Given the description of an element on the screen output the (x, y) to click on. 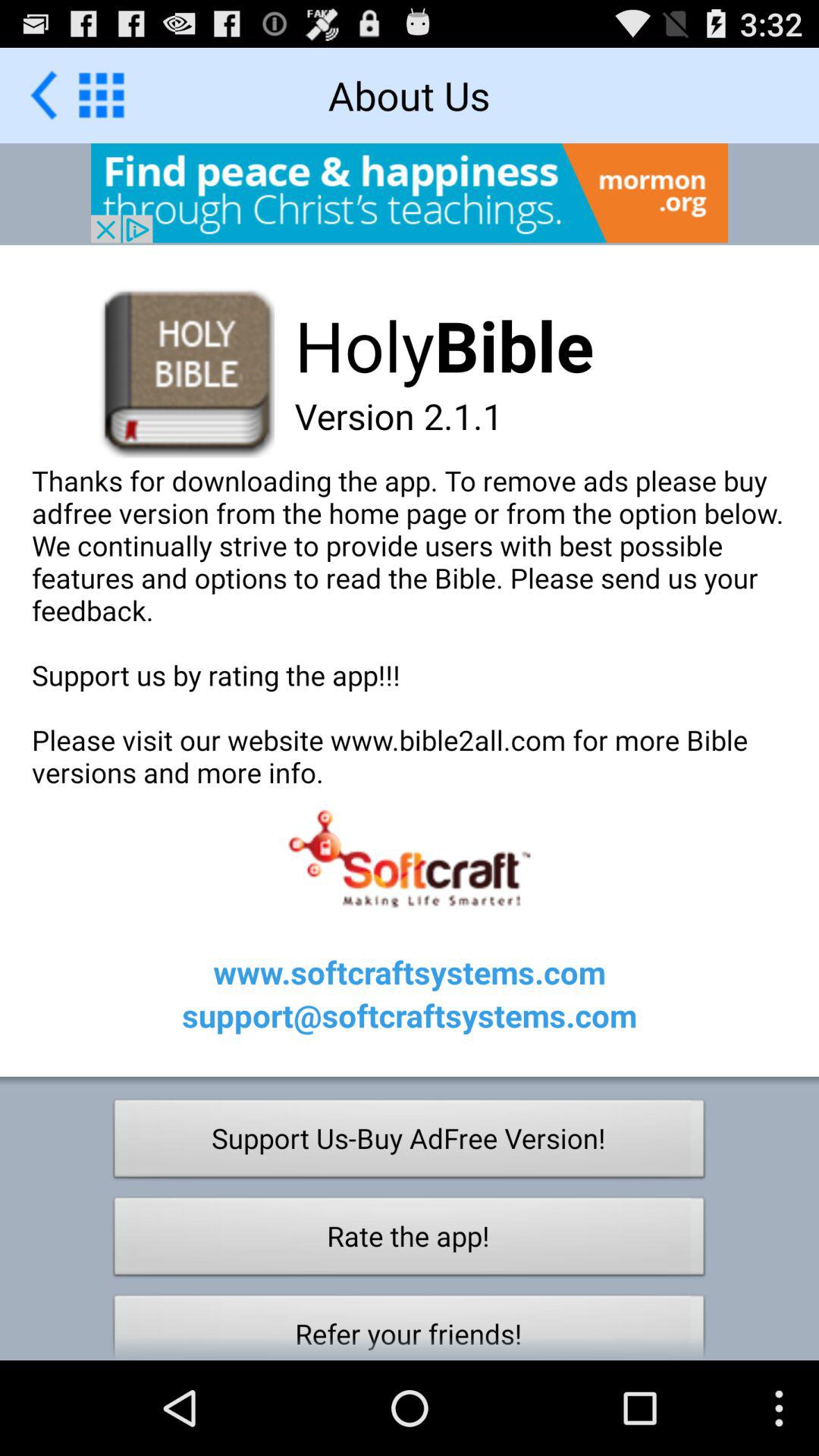
go back (43, 94)
